Given the description of an element on the screen output the (x, y) to click on. 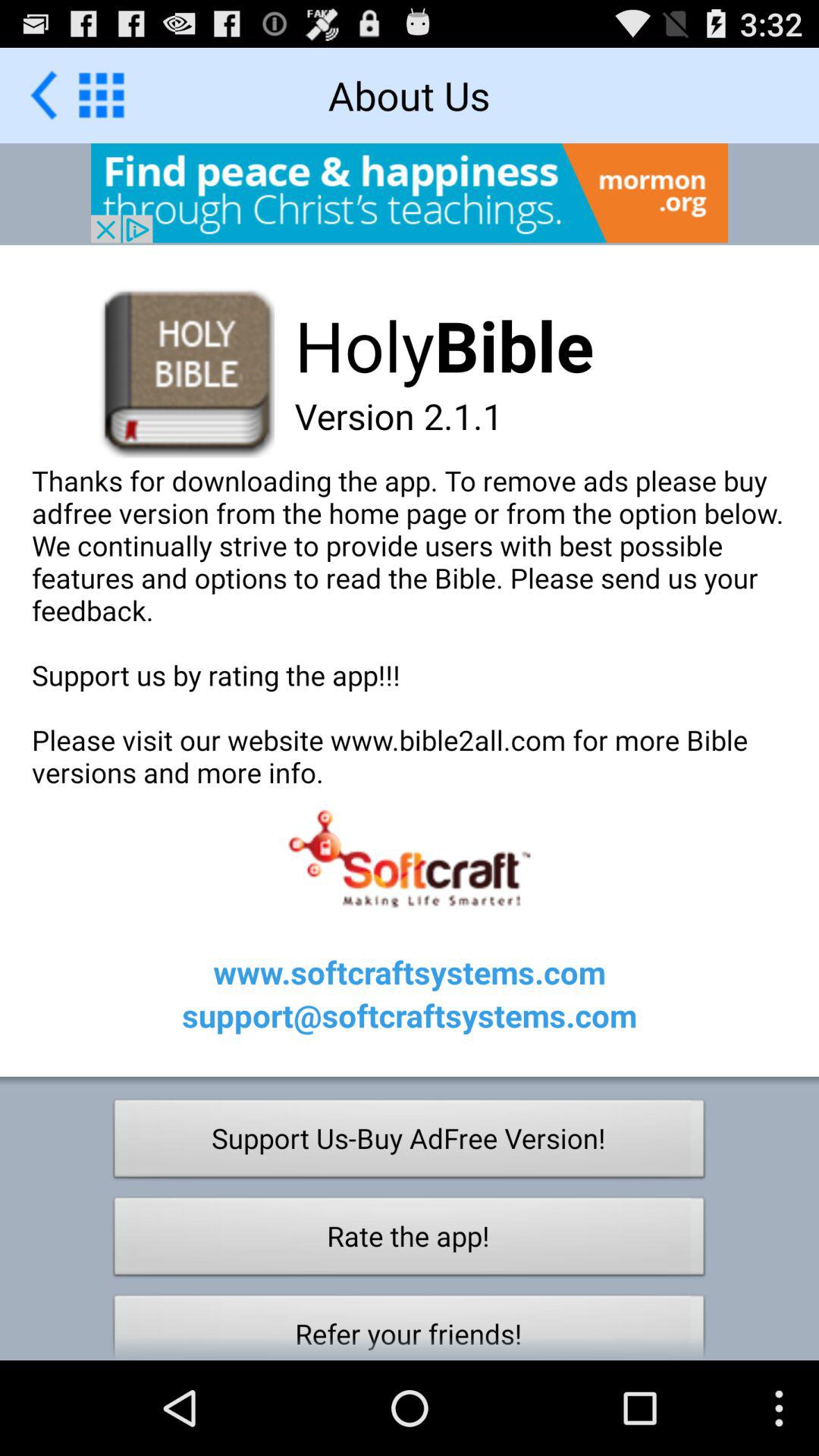
go back (43, 94)
